Given the description of an element on the screen output the (x, y) to click on. 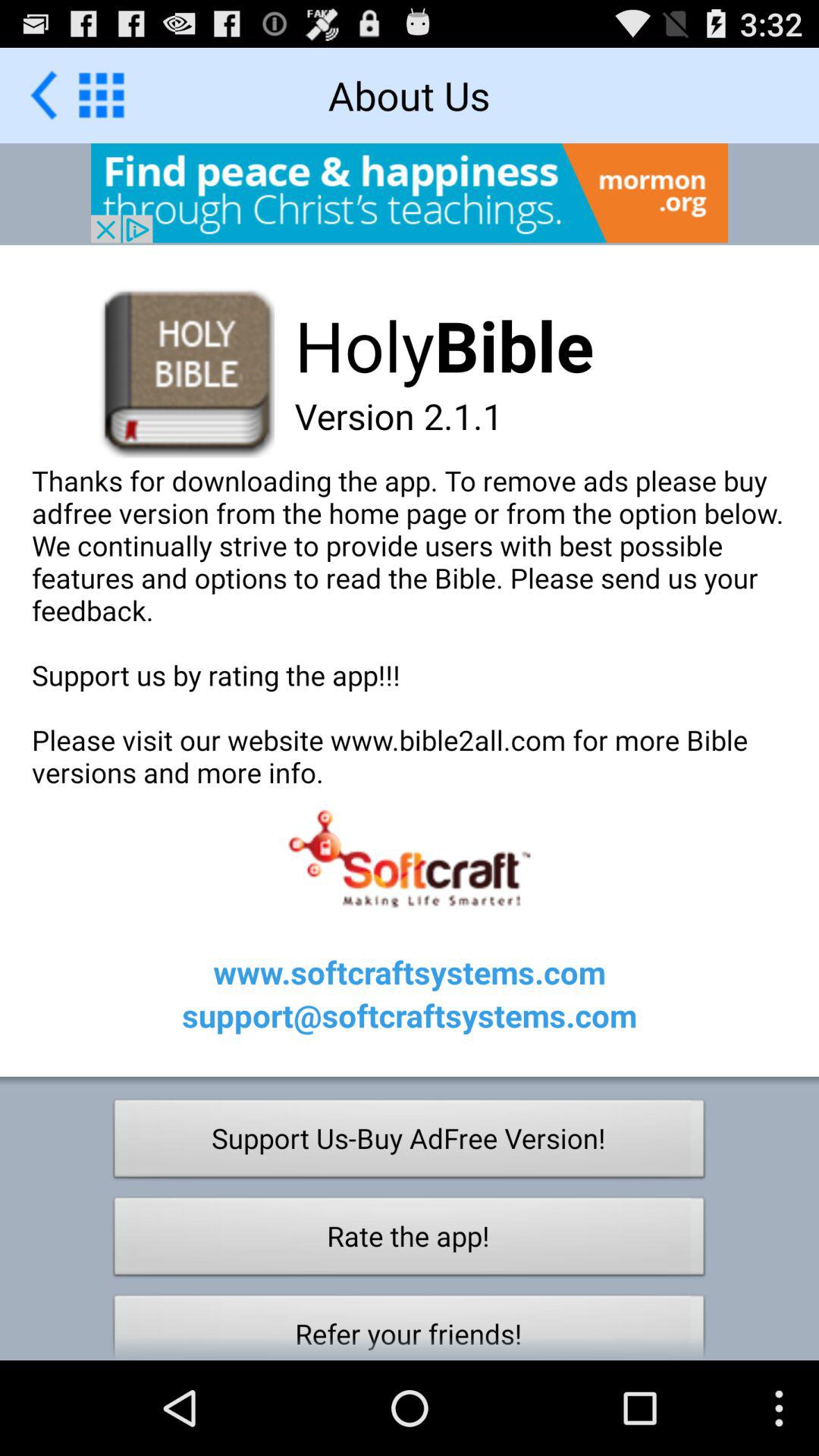
go back (43, 94)
